Given the description of an element on the screen output the (x, y) to click on. 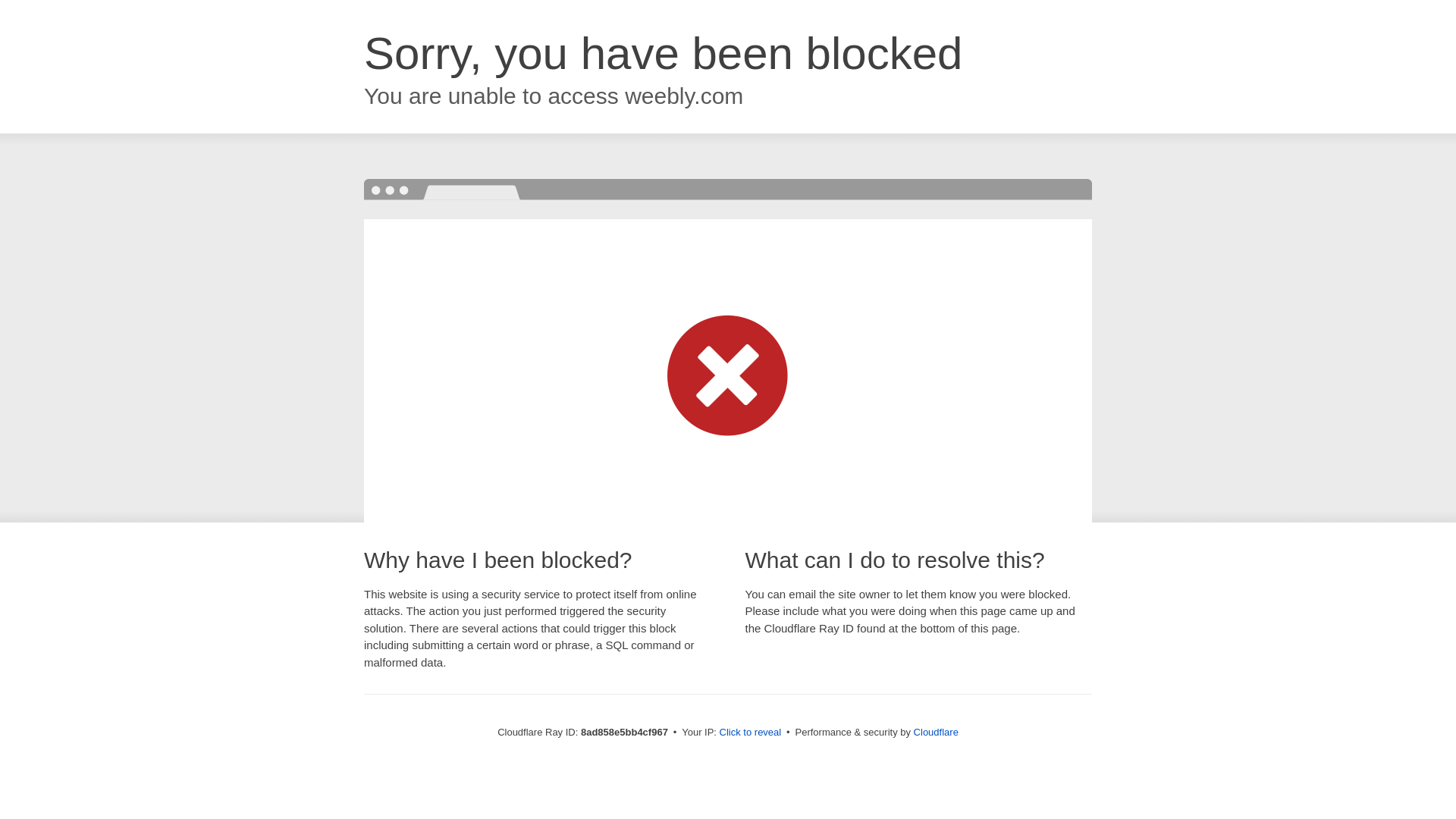
Cloudflare (936, 731)
Click to reveal (750, 732)
